Given the description of an element on the screen output the (x, y) to click on. 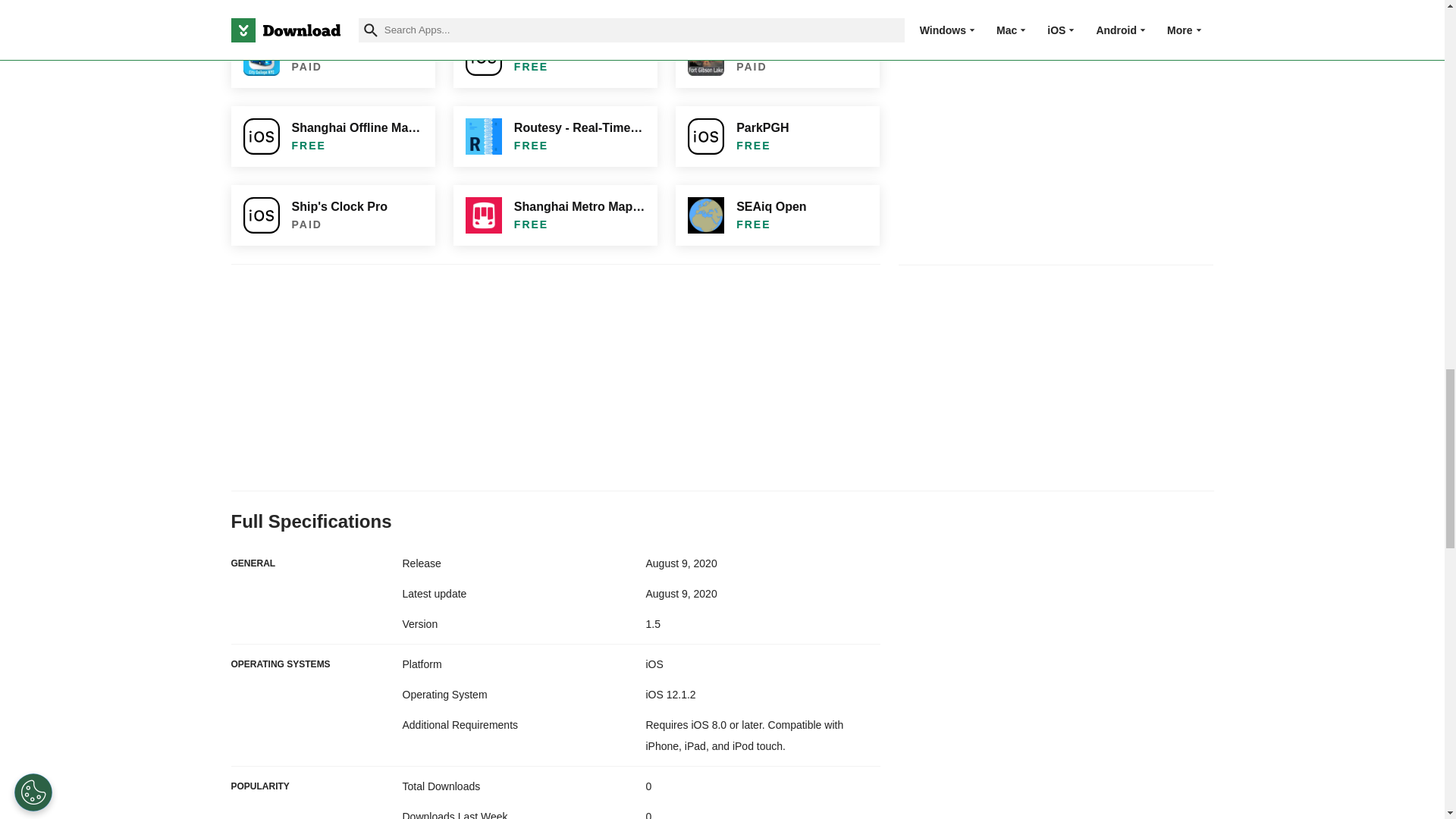
Shanghai Metro Map and Route Planner (555, 215)
Ship's Clock Pro (331, 215)
ParkPGH (777, 136)
SEAiq Open (777, 215)
Lake Fort Gibson Oklahoma GPS chart Navigator (777, 57)
SkyDemon (331, 4)
Routesy - Real-Time Bay Area Transit Predictions (555, 136)
Recce - New York (555, 57)
City College NYC USA where is the Bus (331, 57)
Sygic Russia: GPS Navigation (777, 4)
